Given the description of an element on the screen output the (x, y) to click on. 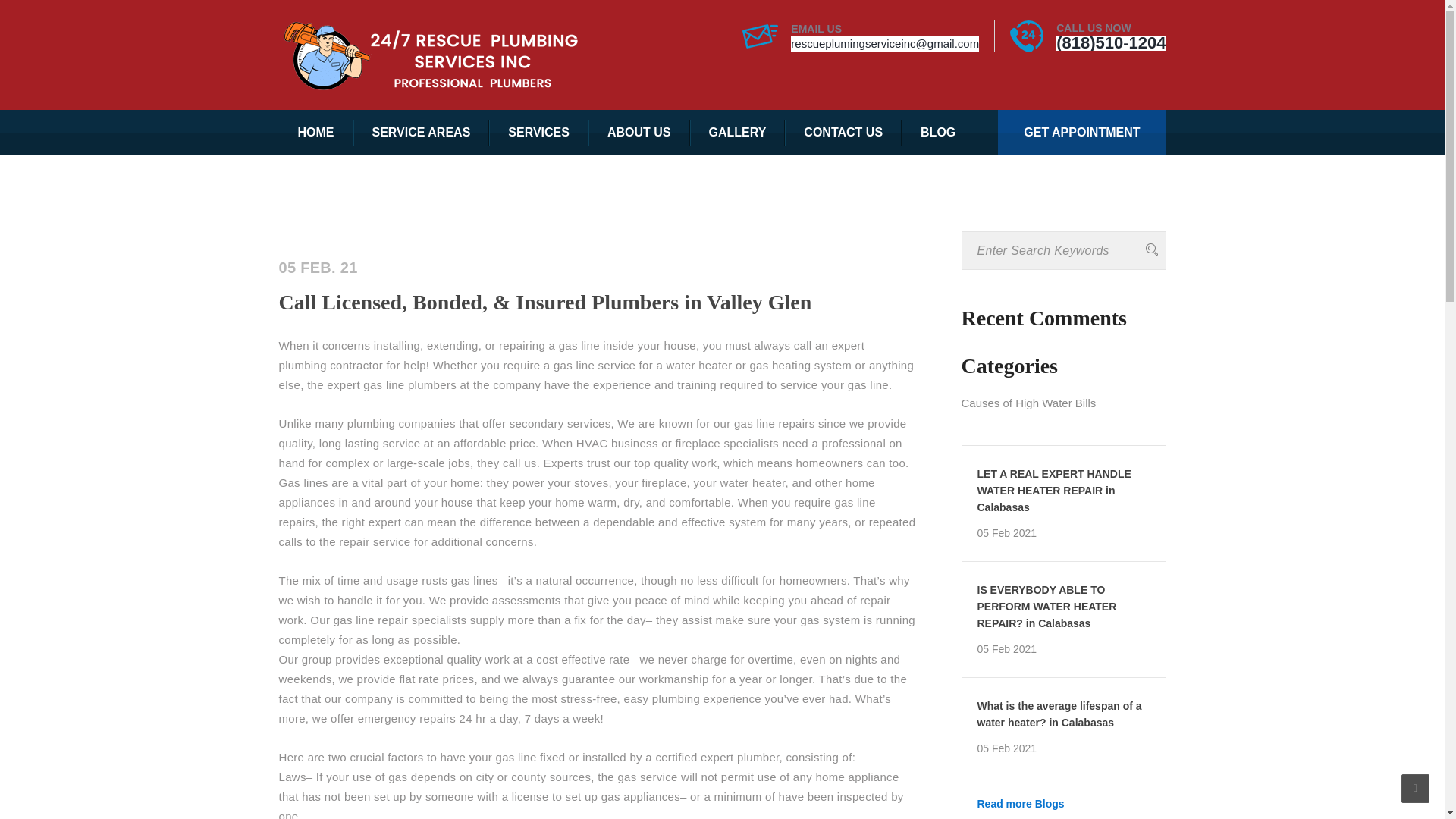
GET APPOINTMENT (1081, 132)
HOME (316, 132)
SERVICES (538, 132)
ABOUT US (639, 132)
BLOG (937, 132)
GALLERY (738, 132)
SERVICE AREAS (421, 132)
CONTACT US (842, 132)
